Given the description of an element on the screen output the (x, y) to click on. 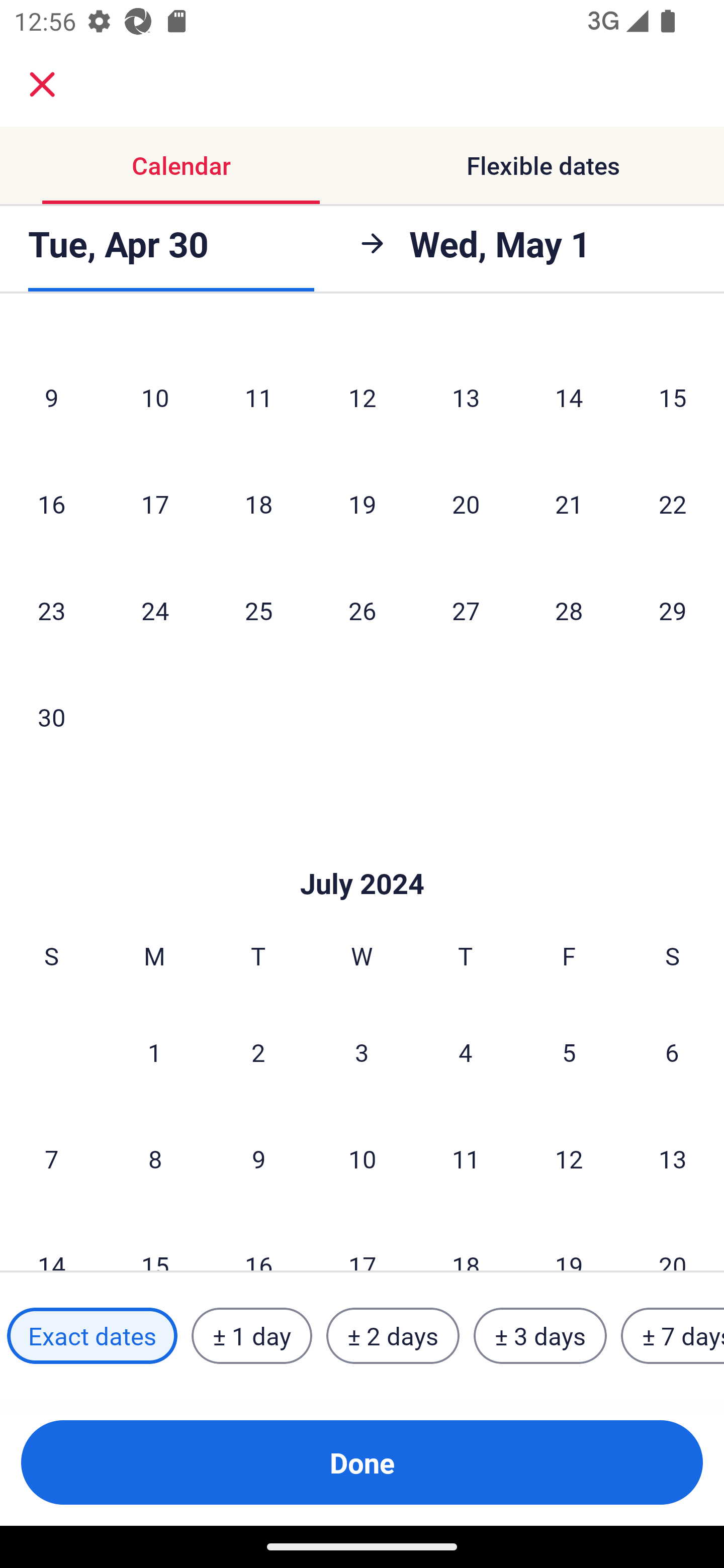
close. (42, 84)
Flexible dates (542, 164)
9 Sunday, June 9, 2024 (51, 397)
10 Monday, June 10, 2024 (155, 397)
11 Tuesday, June 11, 2024 (258, 397)
12 Wednesday, June 12, 2024 (362, 397)
13 Thursday, June 13, 2024 (465, 397)
14 Friday, June 14, 2024 (569, 397)
15 Saturday, June 15, 2024 (672, 397)
16 Sunday, June 16, 2024 (51, 503)
17 Monday, June 17, 2024 (155, 503)
18 Tuesday, June 18, 2024 (258, 503)
19 Wednesday, June 19, 2024 (362, 503)
20 Thursday, June 20, 2024 (465, 503)
21 Friday, June 21, 2024 (569, 503)
22 Saturday, June 22, 2024 (672, 503)
23 Sunday, June 23, 2024 (51, 609)
24 Monday, June 24, 2024 (155, 609)
25 Tuesday, June 25, 2024 (258, 609)
26 Wednesday, June 26, 2024 (362, 609)
27 Thursday, June 27, 2024 (465, 609)
28 Friday, June 28, 2024 (569, 609)
29 Saturday, June 29, 2024 (672, 609)
30 Sunday, June 30, 2024 (51, 716)
Skip to Done (362, 853)
1 Monday, July 1, 2024 (154, 1051)
2 Tuesday, July 2, 2024 (257, 1051)
3 Wednesday, July 3, 2024 (361, 1051)
4 Thursday, July 4, 2024 (465, 1051)
5 Friday, July 5, 2024 (568, 1051)
6 Saturday, July 6, 2024 (672, 1051)
7 Sunday, July 7, 2024 (51, 1158)
8 Monday, July 8, 2024 (155, 1158)
9 Tuesday, July 9, 2024 (258, 1158)
10 Wednesday, July 10, 2024 (362, 1158)
11 Thursday, July 11, 2024 (465, 1158)
12 Friday, July 12, 2024 (569, 1158)
13 Saturday, July 13, 2024 (672, 1158)
Exact dates (92, 1335)
± 1 day (251, 1335)
± 2 days (392, 1335)
± 3 days (539, 1335)
± 7 days (672, 1335)
Done (361, 1462)
